Given the description of an element on the screen output the (x, y) to click on. 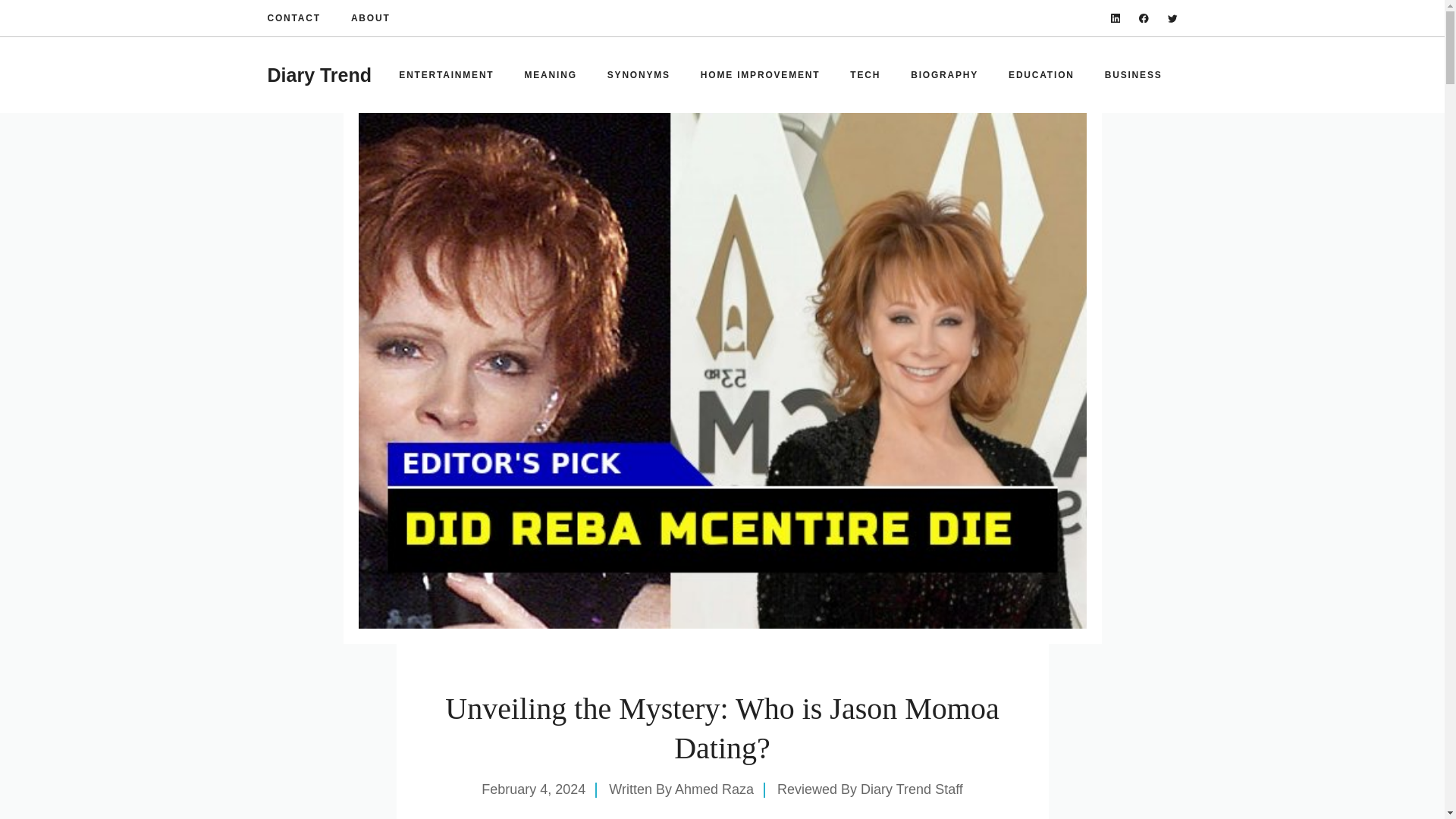
BUSINESS (1133, 74)
TECH (864, 74)
HOME IMPROVEMENT (759, 74)
ENTERTAINMENT (446, 74)
SYNONYMS (638, 74)
Diary Trend (318, 74)
CONTACT (293, 18)
EDUCATION (1040, 74)
ABOUT (370, 18)
BIOGRAPHY (943, 74)
